Given the description of an element on the screen output the (x, y) to click on. 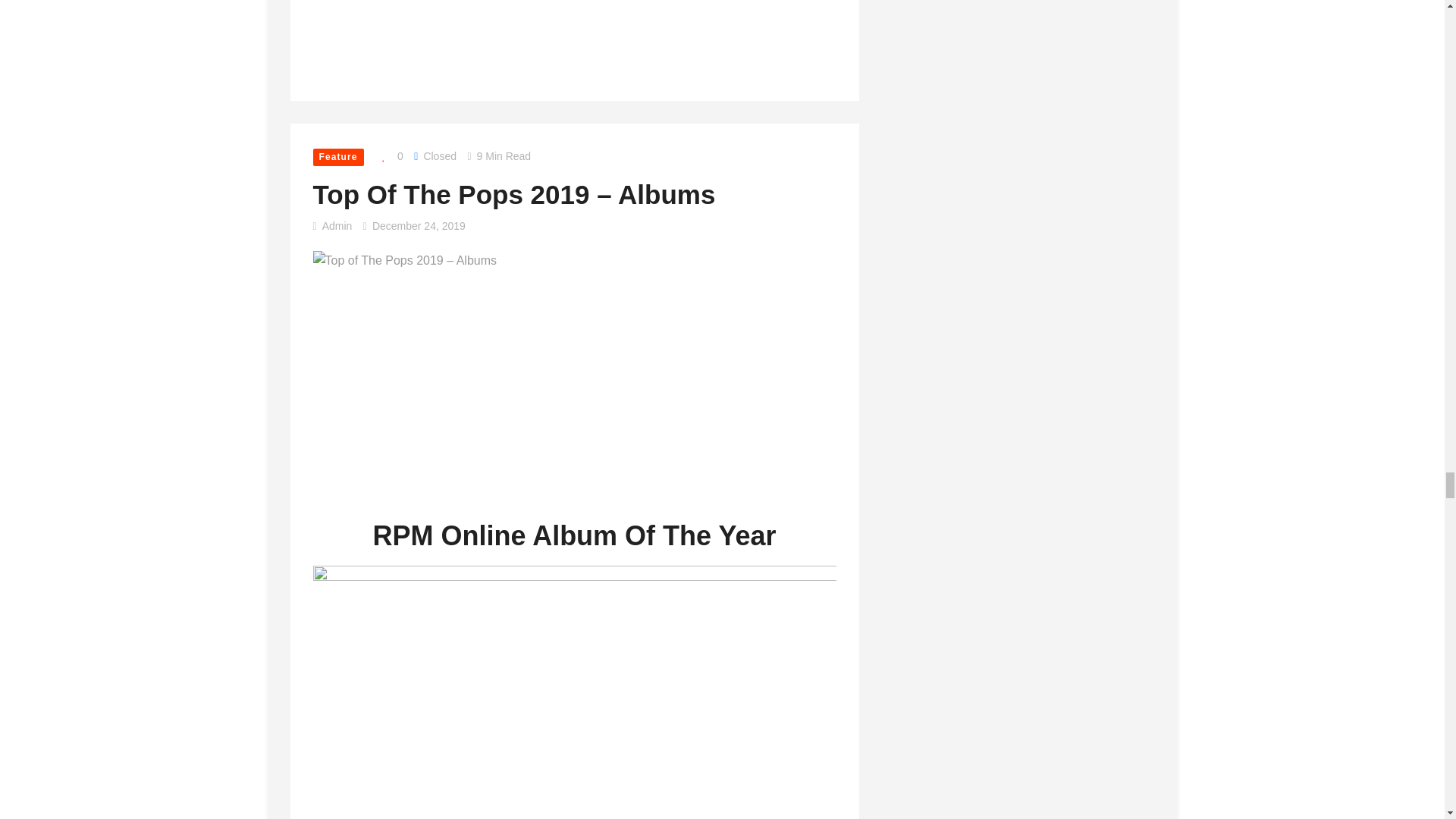
Spotify Embed: RPM Online April Playlist (426, 15)
Like this (388, 156)
